Given the description of an element on the screen output the (x, y) to click on. 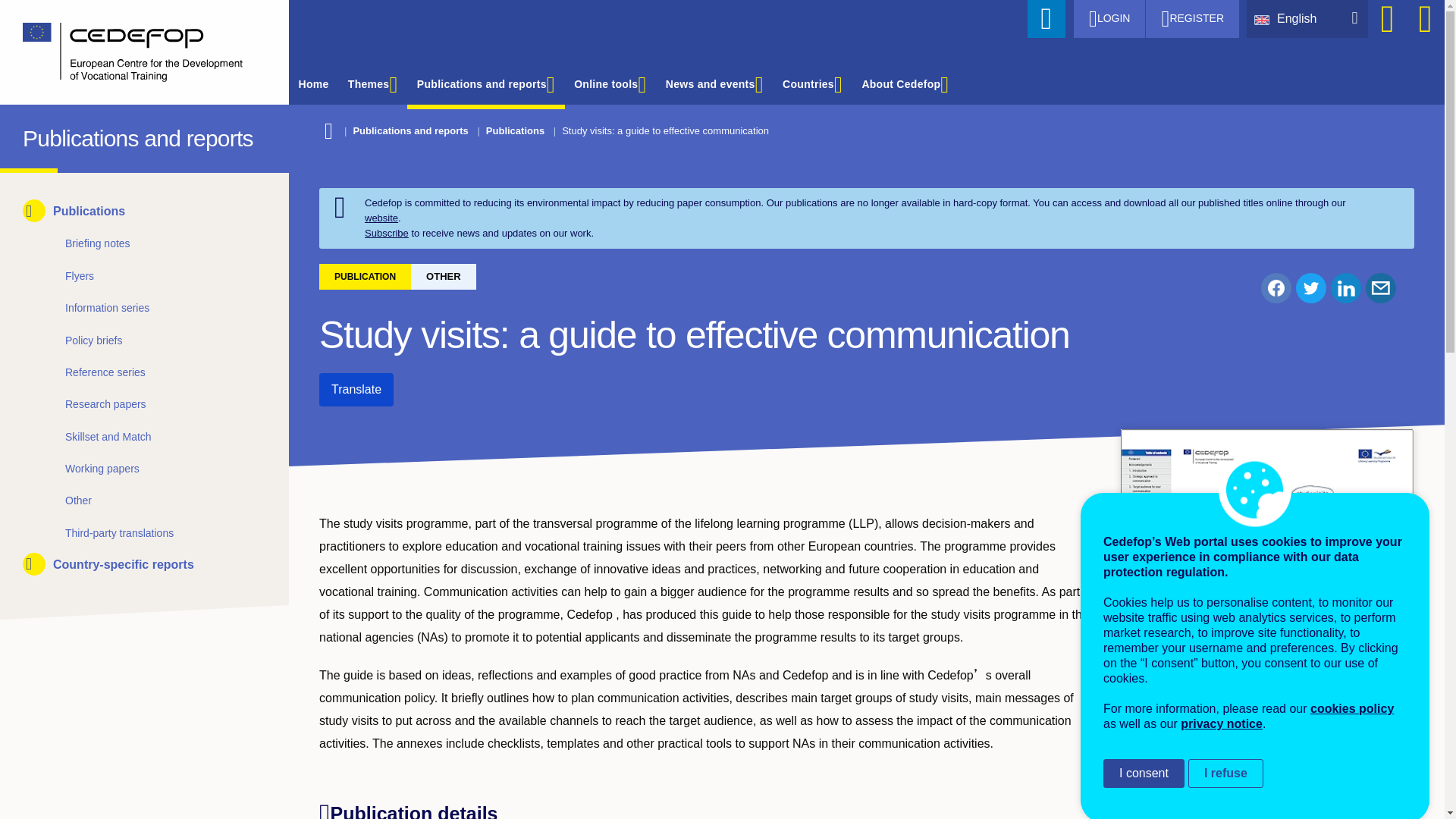
Apply (1046, 18)
Home (133, 52)
CEDEFOP (37, 135)
Home (37, 135)
